Given the description of an element on the screen output the (x, y) to click on. 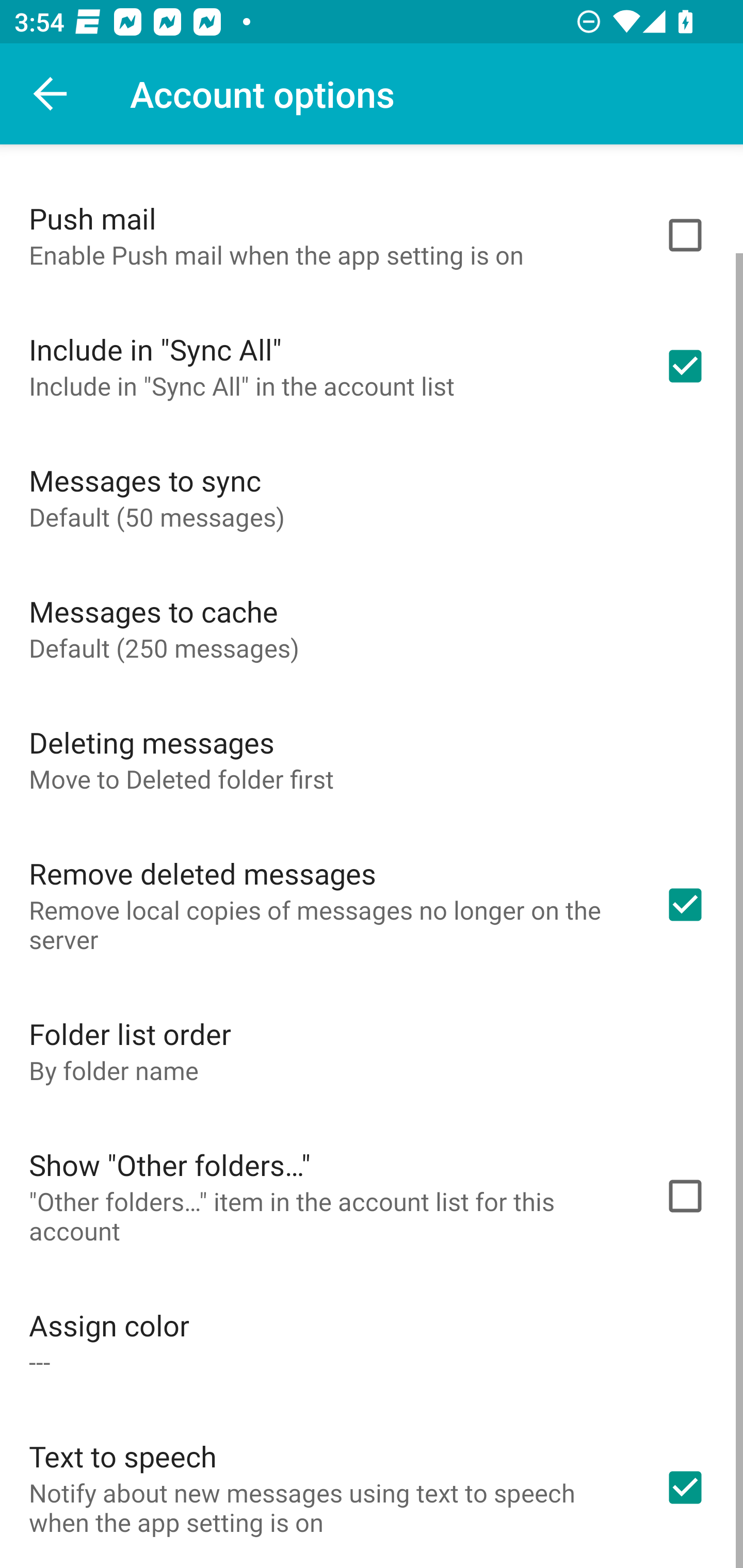
Navigate up (50, 93)
Messages to sync Default (50 messages) (371, 496)
Messages to cache Default (250 messages) (371, 627)
Deleting messages Move to Deleted folder first (371, 758)
Folder list order By folder name (371, 1050)
Assign color --- (371, 1342)
